Given the description of an element on the screen output the (x, y) to click on. 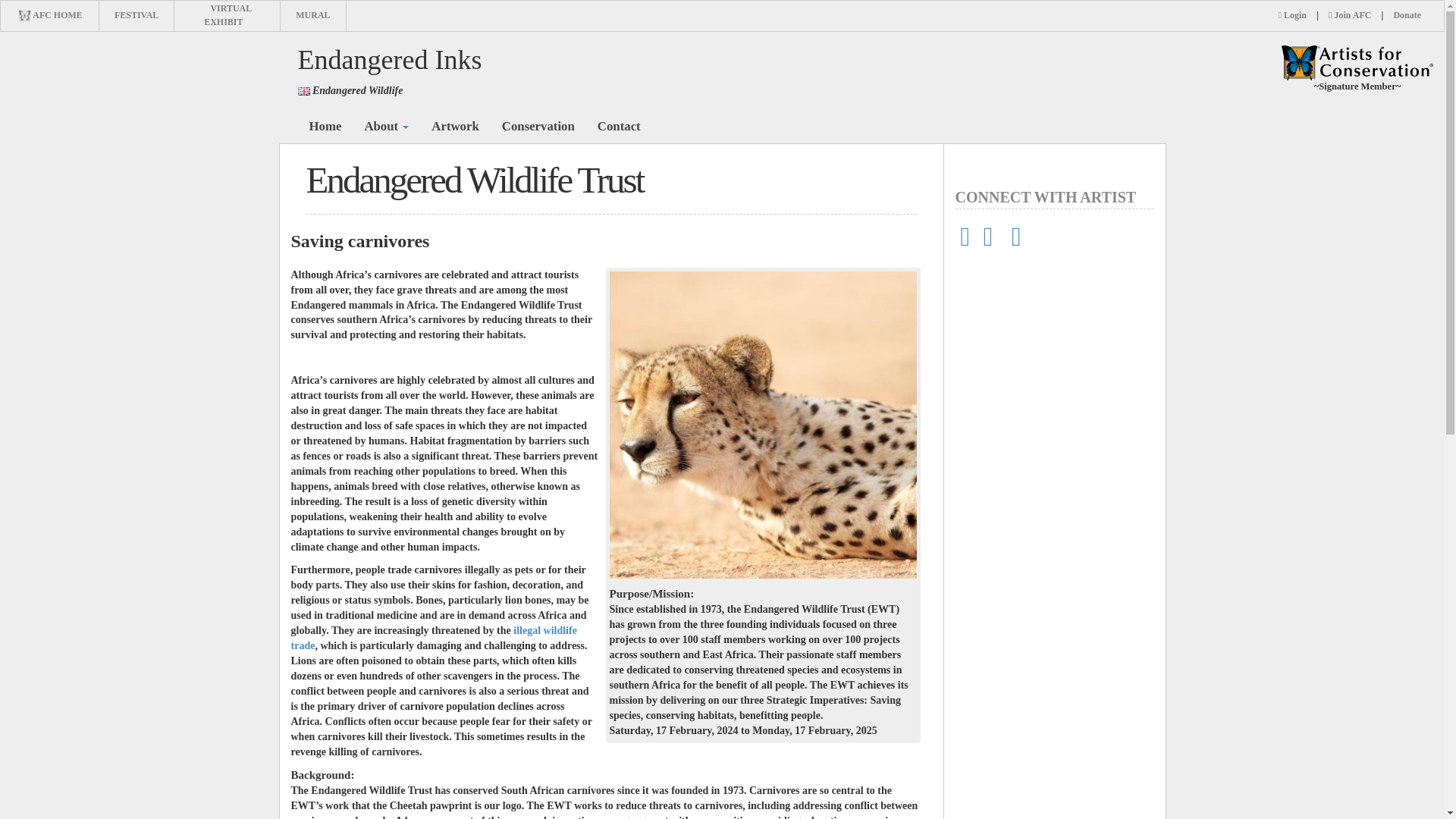
VIRTUAL EXHIBIT (227, 15)
AFC Home (1356, 62)
MURAL (312, 14)
FESTIVAL (136, 14)
Login (1292, 14)
Join AFC (1349, 14)
United Kingdom (302, 90)
Conservation (538, 126)
Contact (619, 126)
